Given the description of an element on the screen output the (x, y) to click on. 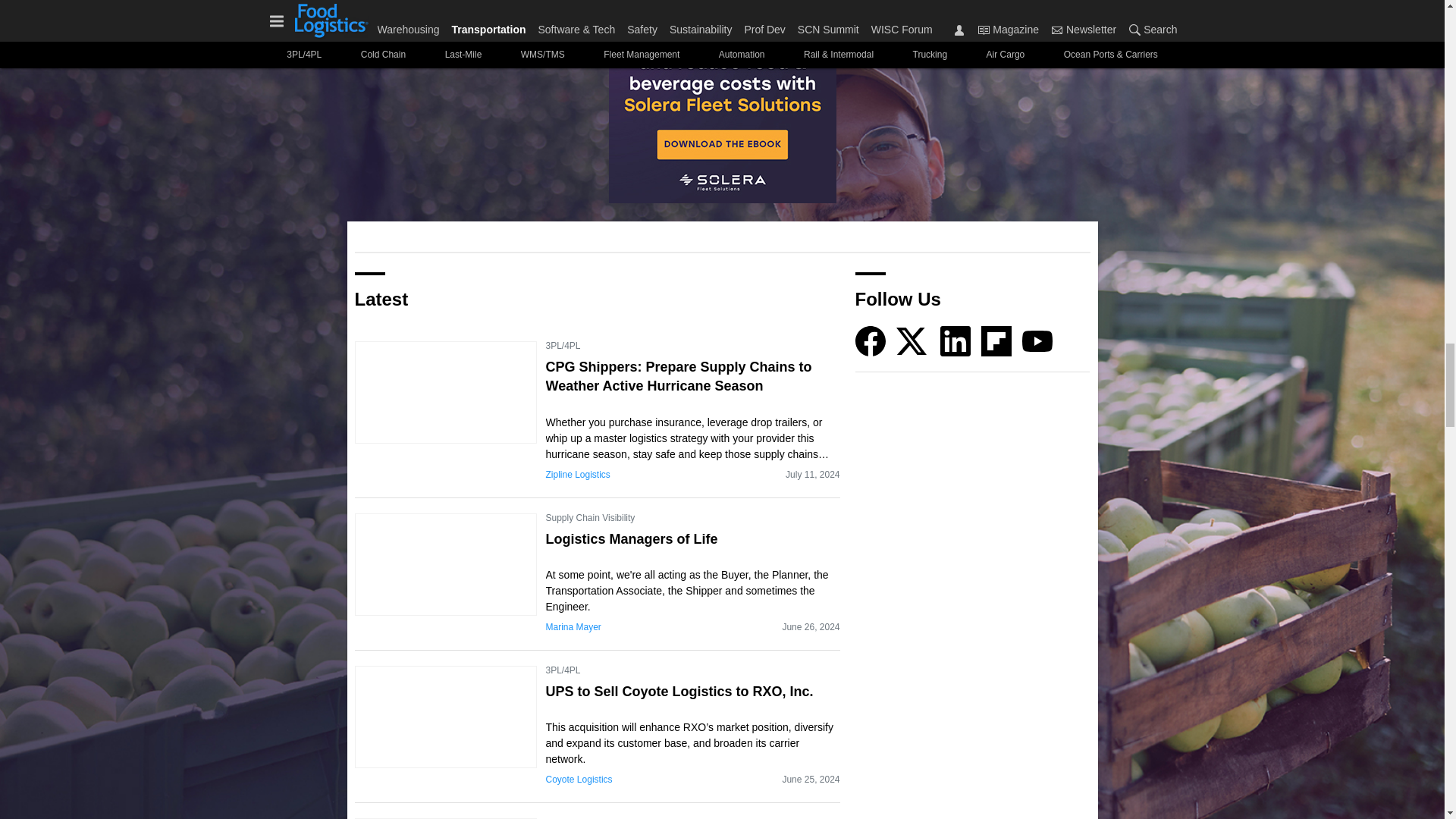
LinkedIn icon (955, 340)
Twitter X icon (911, 340)
Facebook icon (870, 340)
YouTube icon (1037, 340)
Flipboard icon (996, 340)
